Given the description of an element on the screen output the (x, y) to click on. 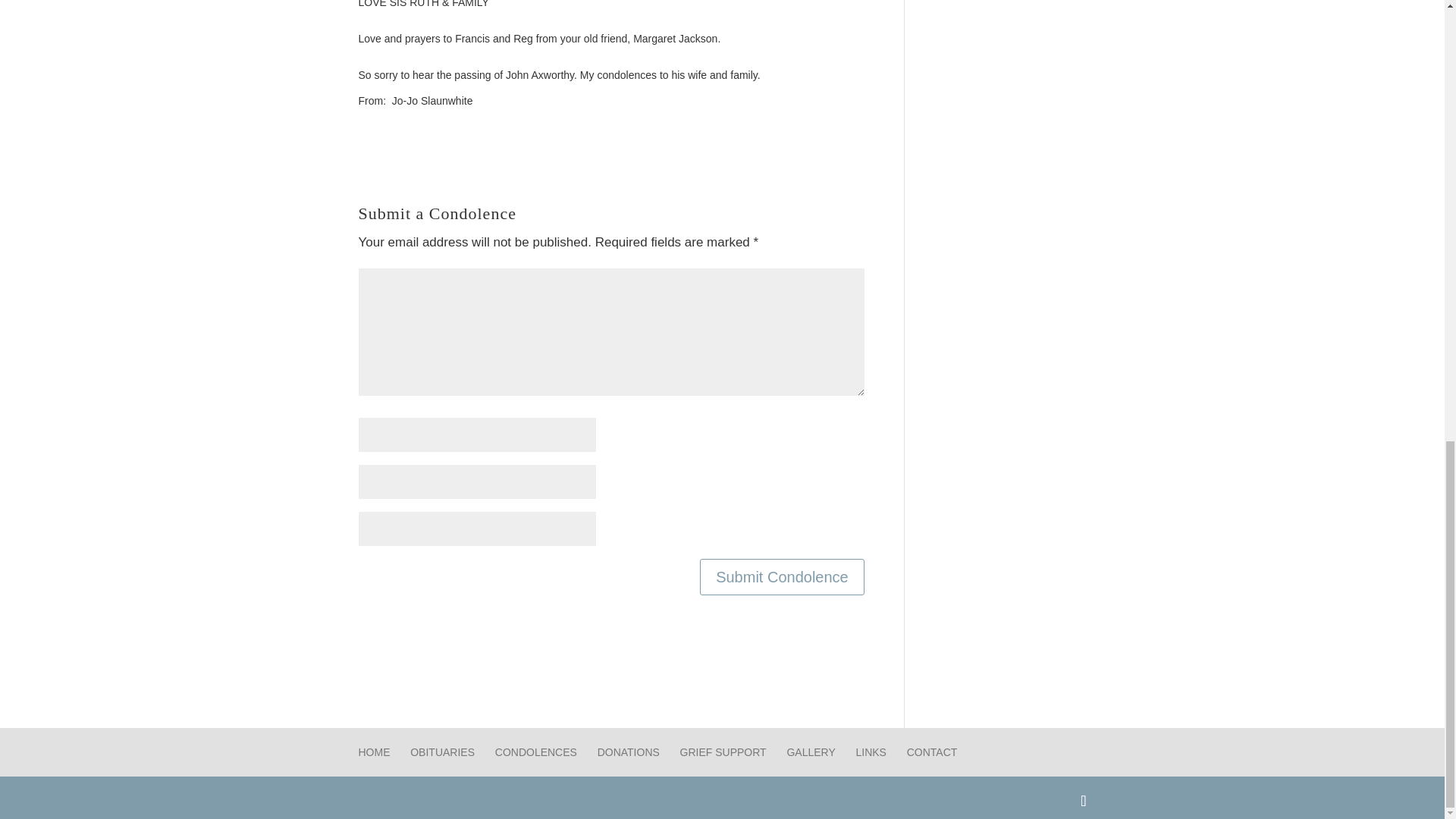
GRIEF SUPPORT (723, 752)
OBITUARIES (442, 752)
Submit Condolence (782, 576)
LINKS (870, 752)
DONATIONS (627, 752)
GALLERY (810, 752)
Submit Condolence (782, 576)
CONDOLENCES (535, 752)
HOME (374, 752)
CONTACT (932, 752)
